Given the description of an element on the screen output the (x, y) to click on. 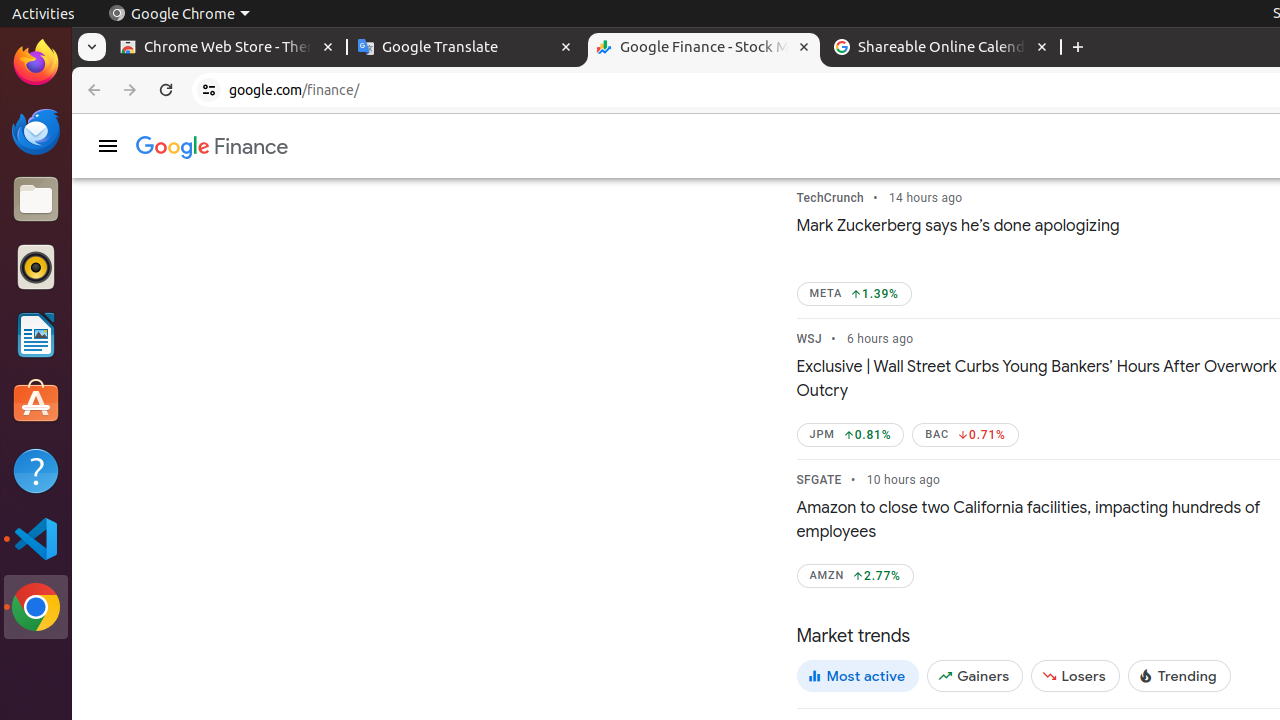
JPM Up by 0.81% Element type: link (850, 435)
Google Translate - Memory usage - 77.6 MB Element type: page-tab (466, 47)
Thunderbird Mail Element type: push-button (36, 131)
Google Chrome Element type: menu (179, 13)
Files Element type: push-button (36, 199)
